Given the description of an element on the screen output the (x, y) to click on. 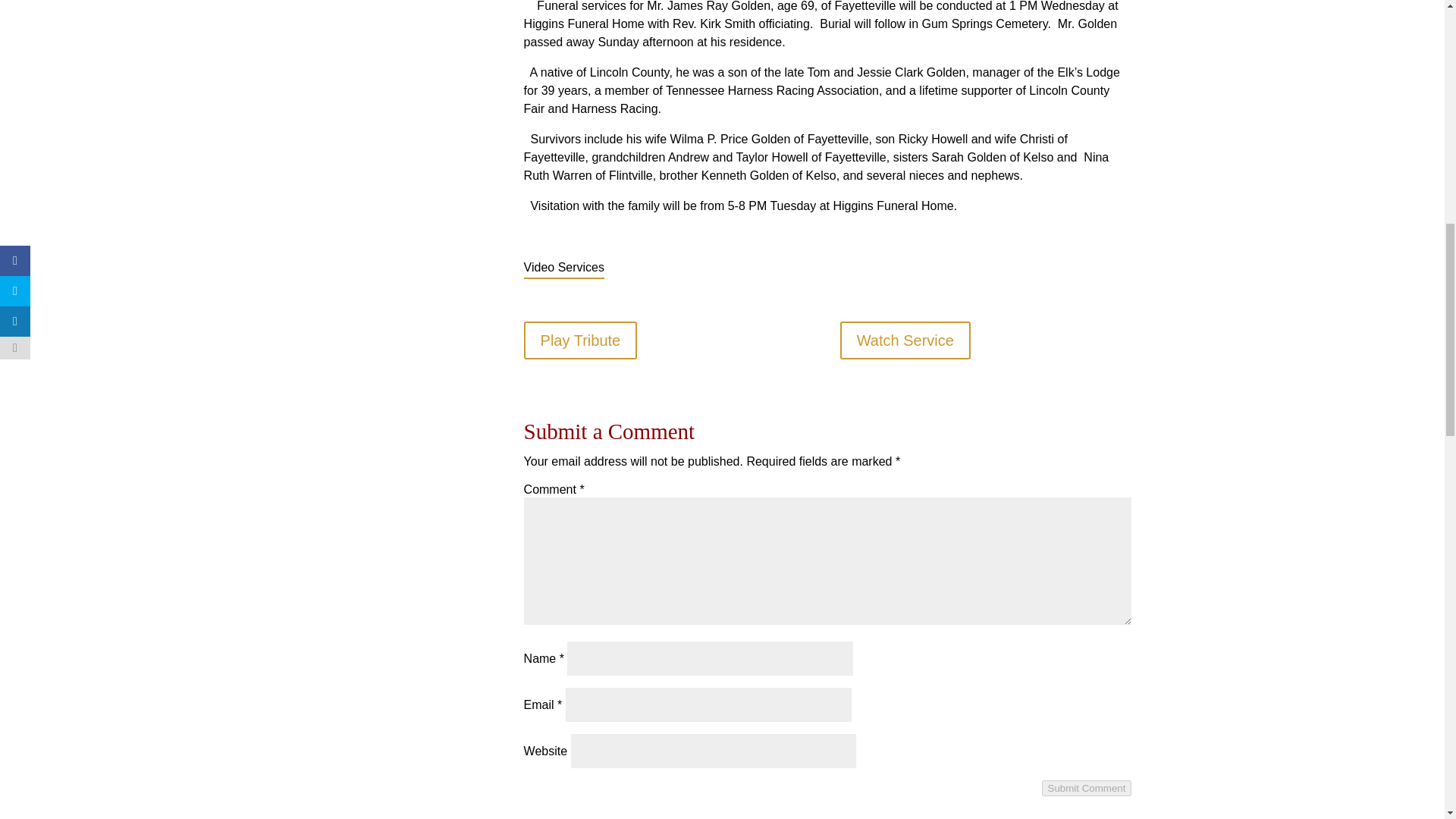
Watch Service (905, 340)
Submit Comment (1087, 788)
Play Tribute (580, 340)
